Given the description of an element on the screen output the (x, y) to click on. 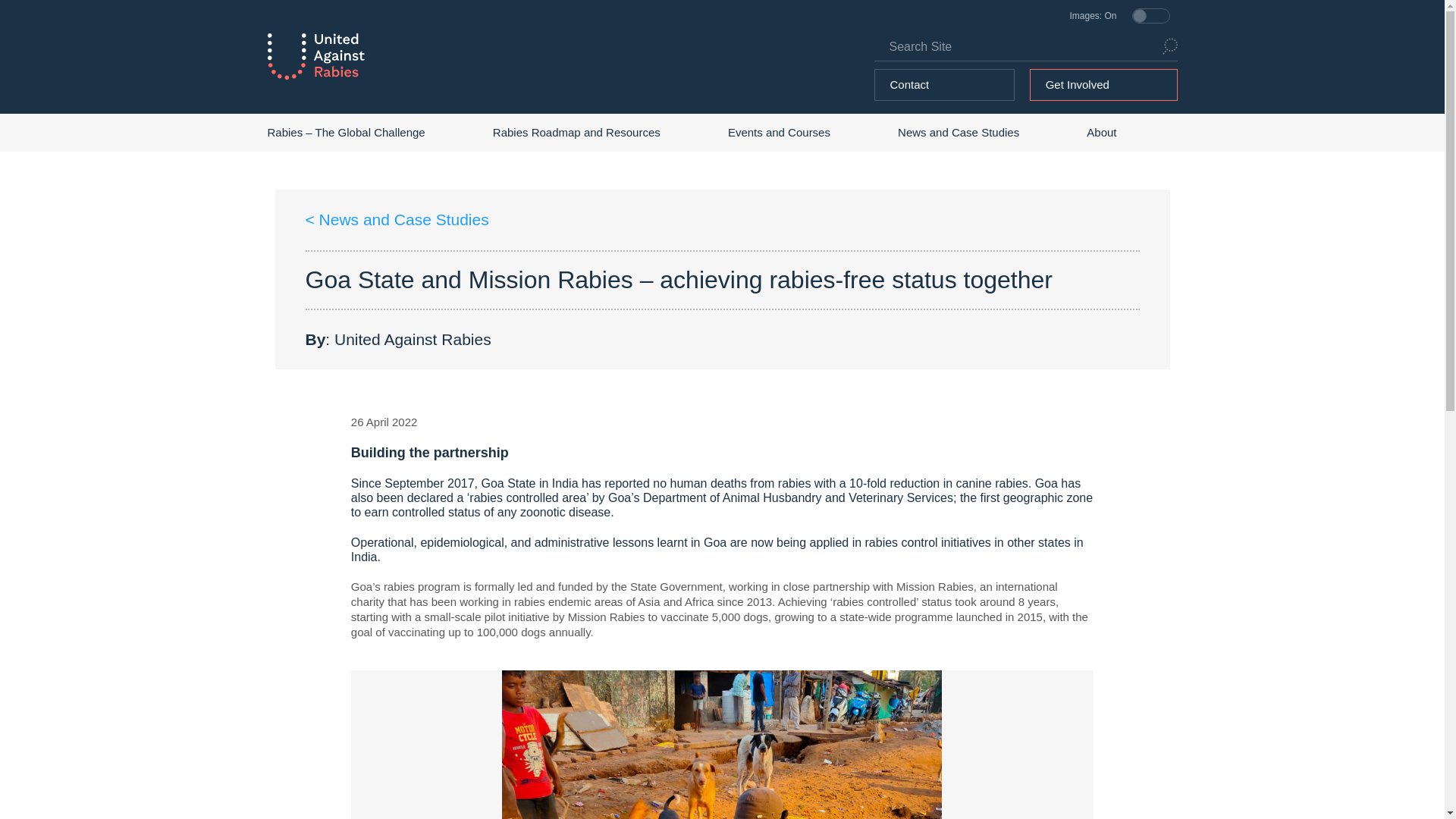
News and Case Studies (958, 132)
Rabies Roadmap and Resources (577, 132)
Events and Courses (778, 132)
Get Involved (1103, 84)
Contact (944, 84)
